Given the description of an element on the screen output the (x, y) to click on. 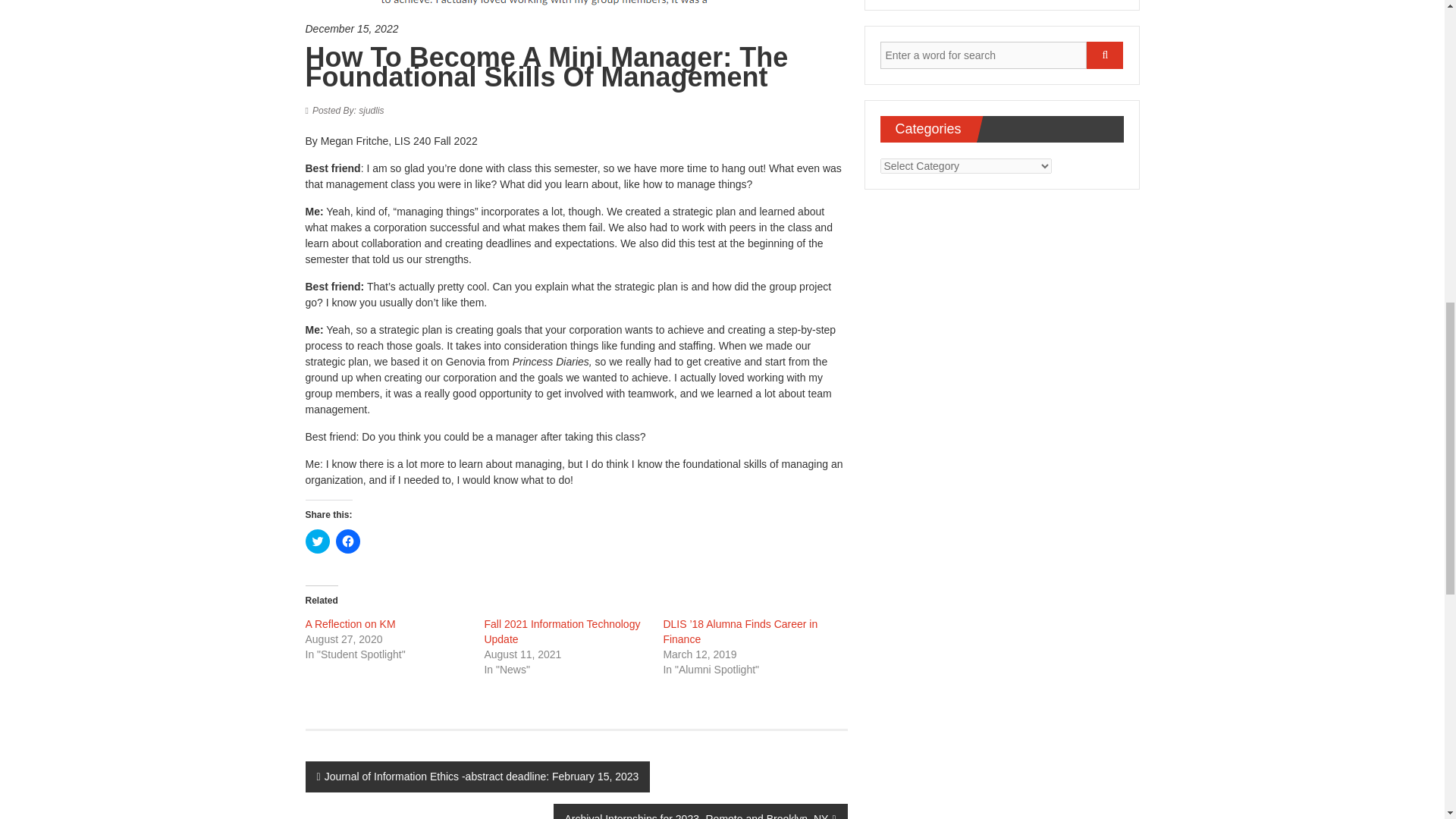
3:32 pm (575, 28)
A Reflection on KM (349, 623)
Click to share on Facebook (346, 541)
Click to share on Twitter (316, 541)
sjudlis (348, 110)
Fall 2021 Information Technology Update (561, 631)
